Given the description of an element on the screen output the (x, y) to click on. 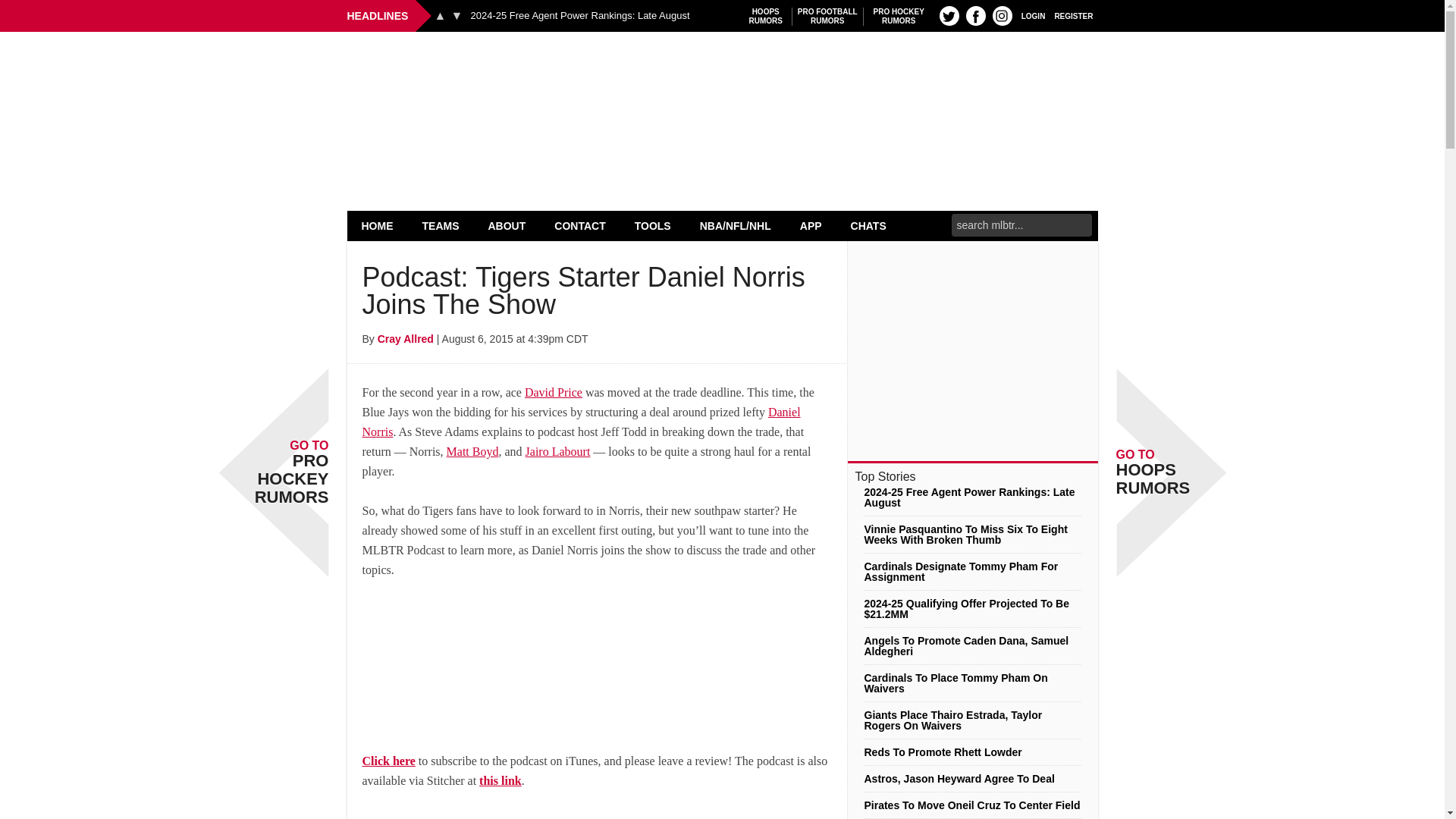
Next (456, 15)
HOME (377, 225)
FB profile (975, 15)
LOGIN (1032, 15)
REGISTER (1073, 15)
Previous (765, 16)
Twitter profile (439, 15)
2024-25 Free Agent Power Rankings: Late August (827, 16)
